Given the description of an element on the screen output the (x, y) to click on. 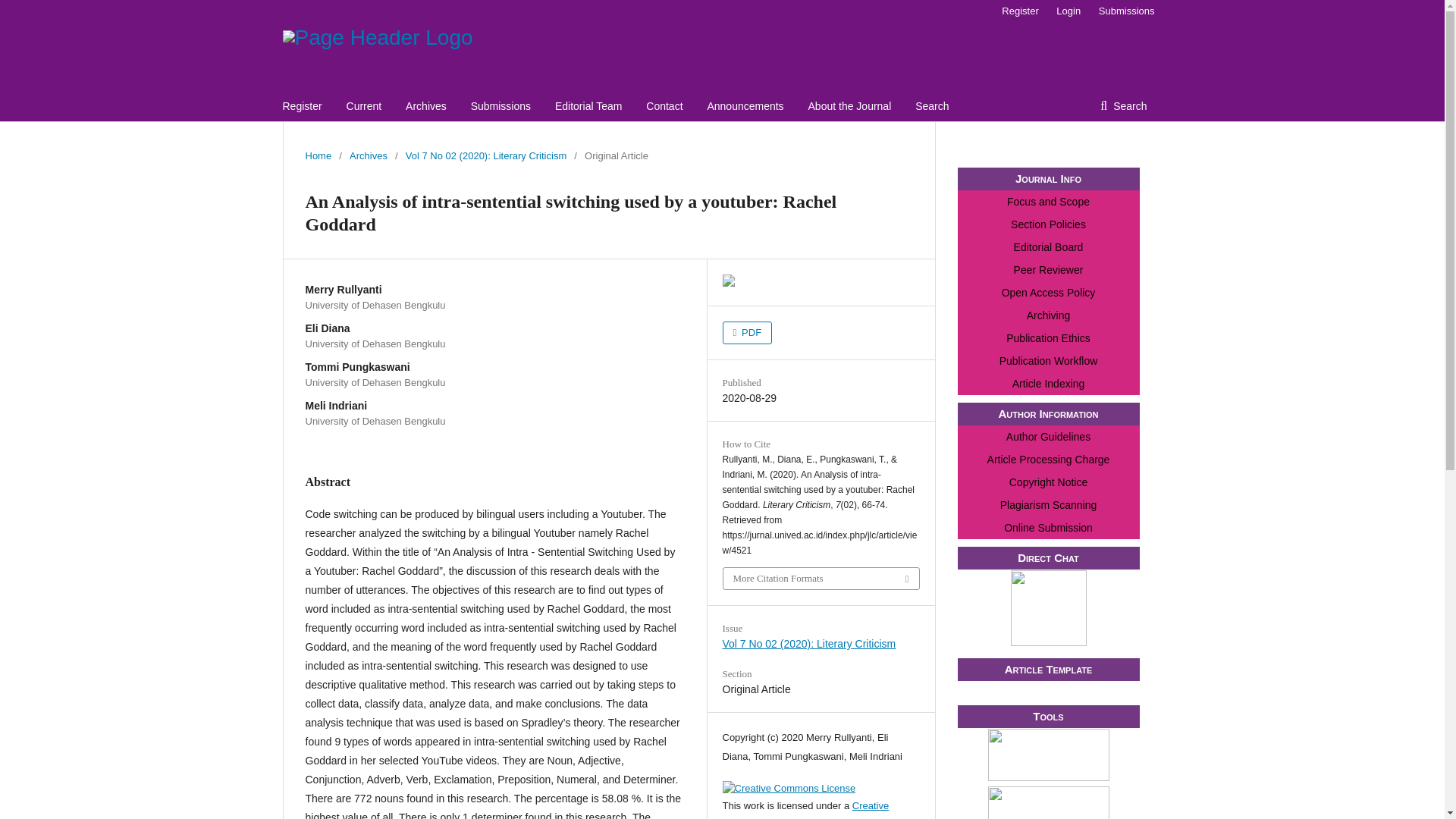
Archives (368, 155)
Register (301, 105)
Submissions (500, 105)
Editorial Team (587, 105)
Contact (664, 105)
Search (932, 105)
Archives (426, 105)
Search (1122, 105)
Home (317, 155)
Announcements (744, 105)
Login (1067, 11)
More Citation Formats (820, 578)
Register (1019, 11)
Submissions (1122, 11)
About the Journal (849, 105)
